Given the description of an element on the screen output the (x, y) to click on. 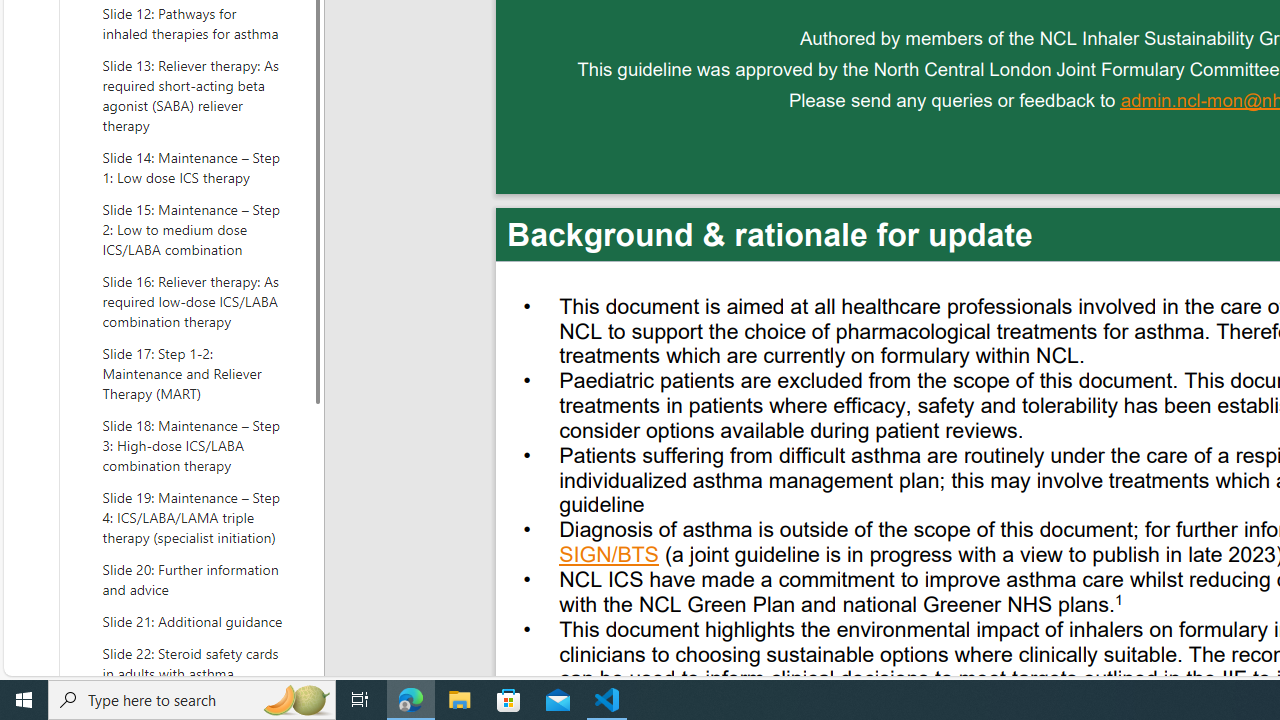
SIGN/BTS (609, 557)
